Given the description of an element on the screen output the (x, y) to click on. 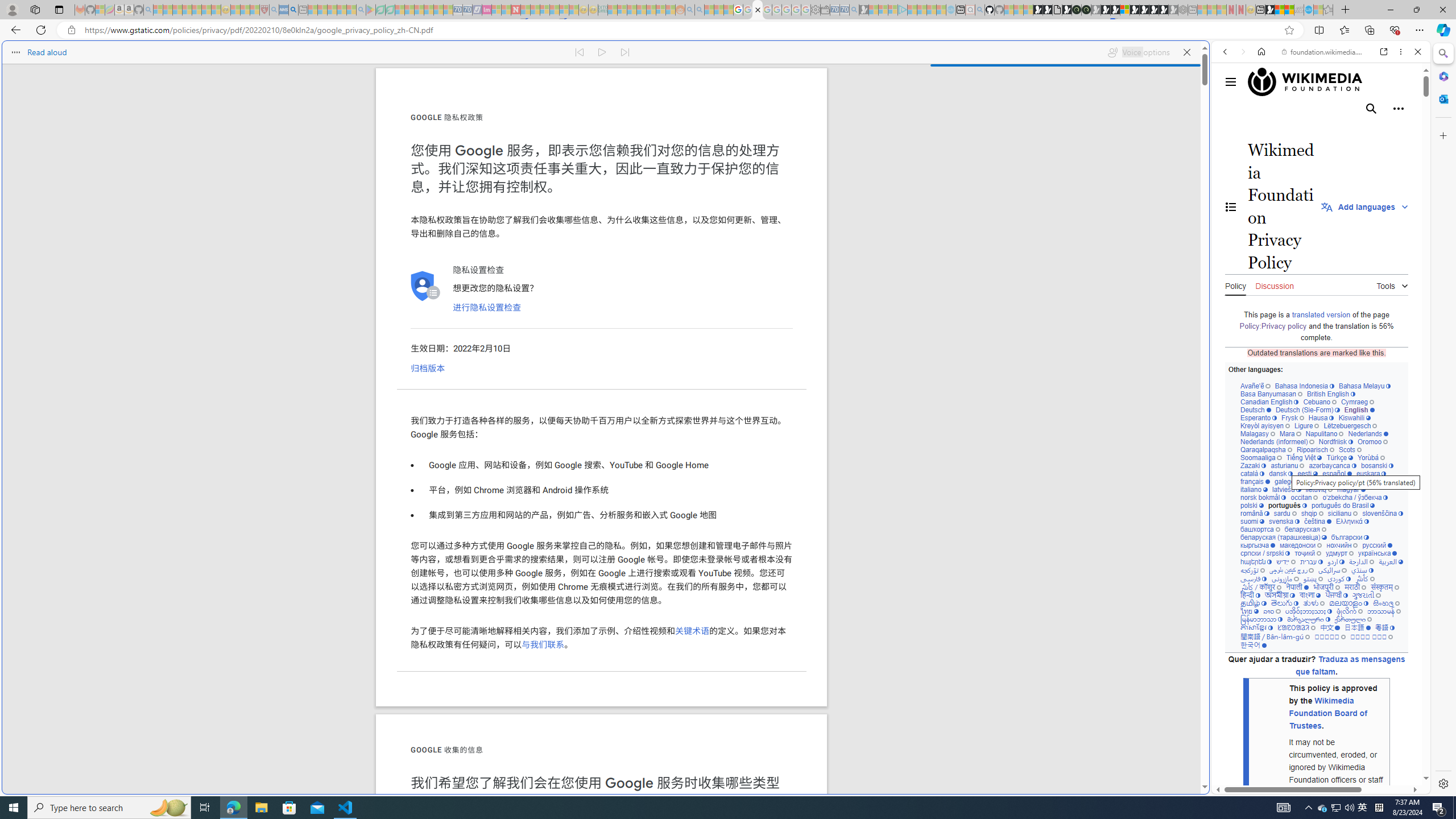
Jobs - lastminute.com Investor Portal - Sleeping (486, 9)
Discussion (1274, 284)
Ligure (1306, 425)
occitan (1303, 497)
